Given the description of an element on the screen output the (x, y) to click on. 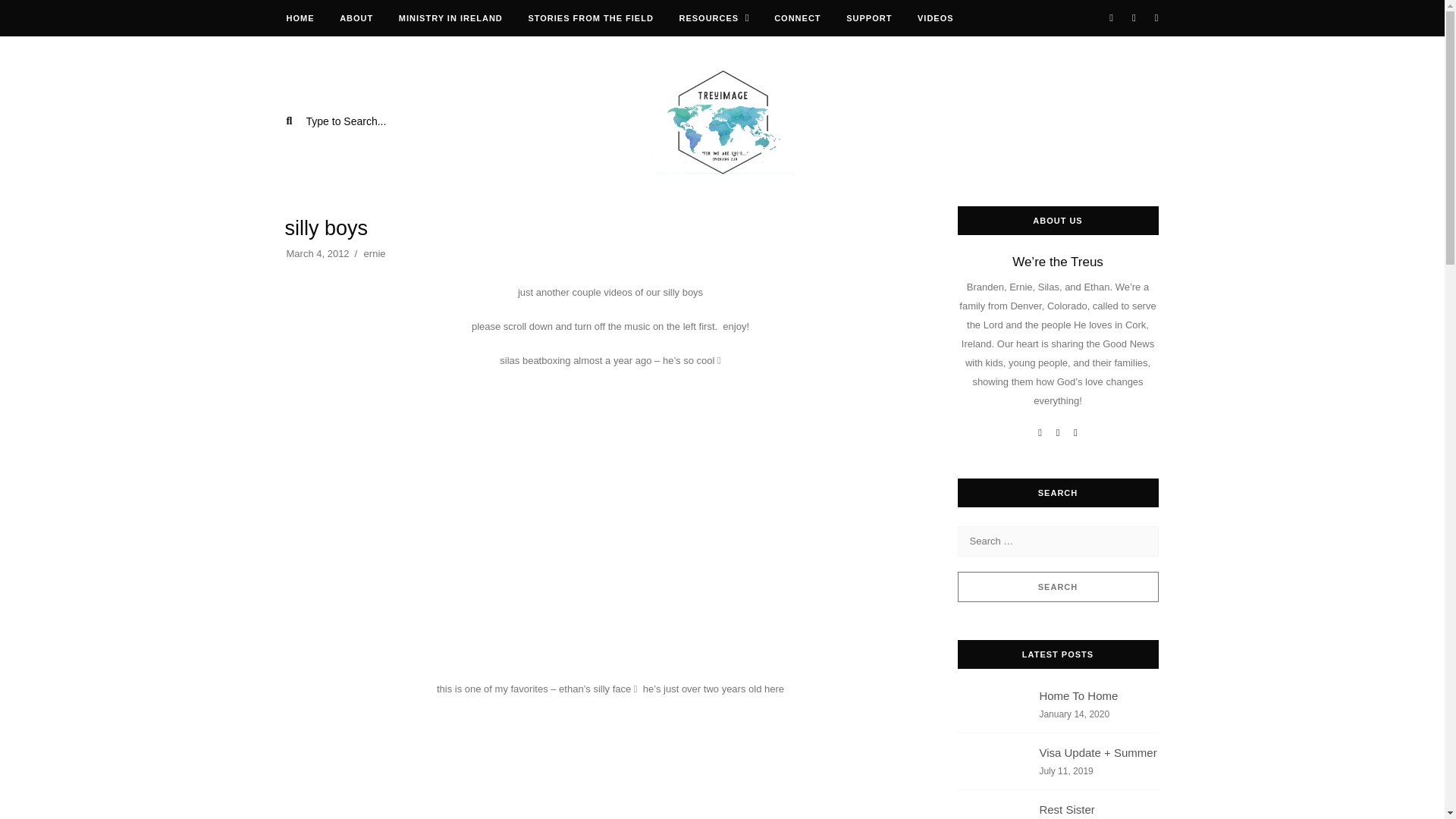
Search (1056, 586)
ABOUT (1056, 804)
MINISTRY IN IRELAND (355, 18)
ernie (450, 18)
STORIES FROM THE FIELD (1056, 710)
SUPPORT (374, 253)
CONNECT (589, 18)
RESOURCES (868, 18)
